Given the description of an element on the screen output the (x, y) to click on. 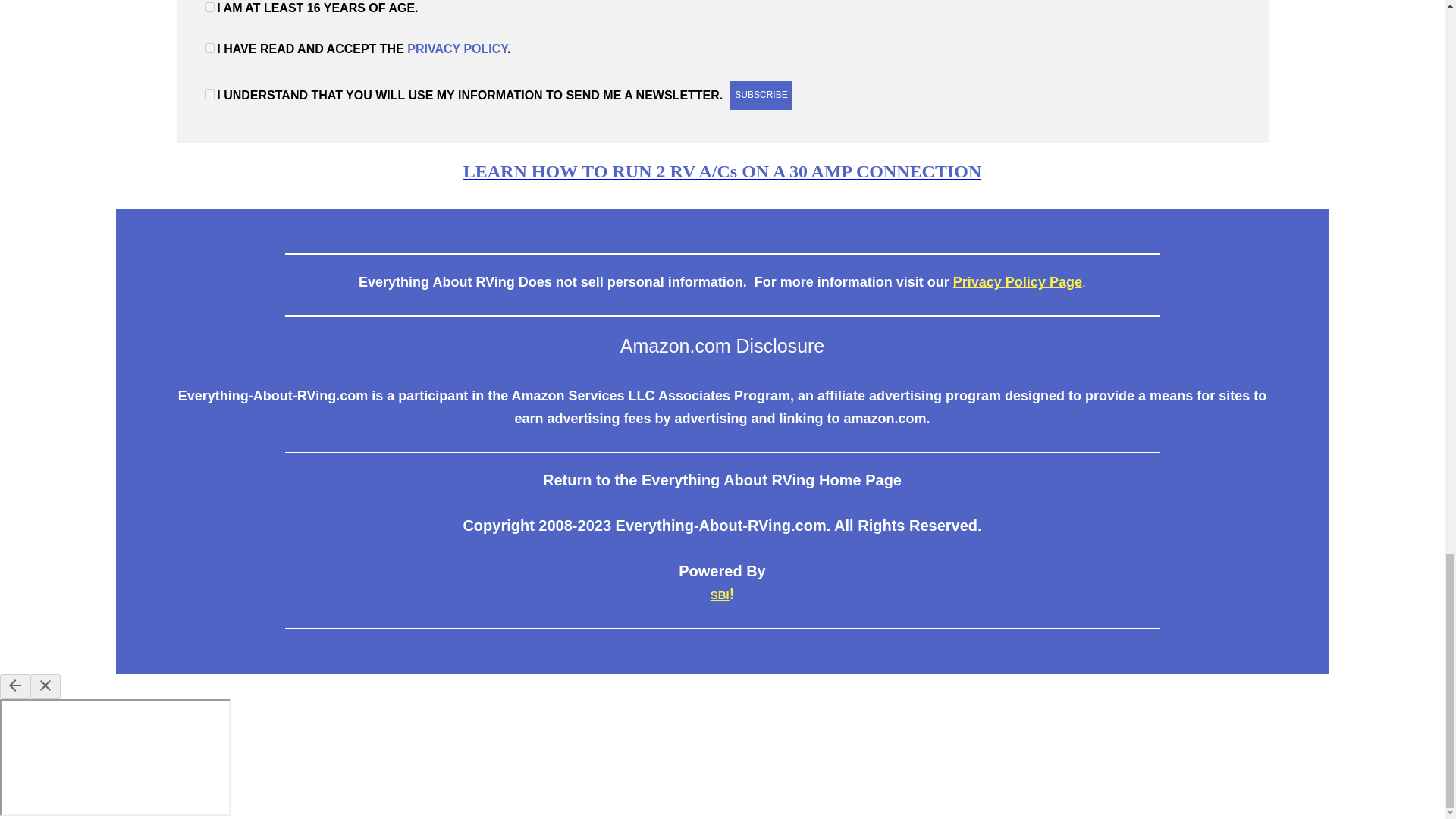
on (209, 7)
on (209, 48)
PRIVACY POLICY (456, 48)
on (209, 94)
